Given the description of an element on the screen output the (x, y) to click on. 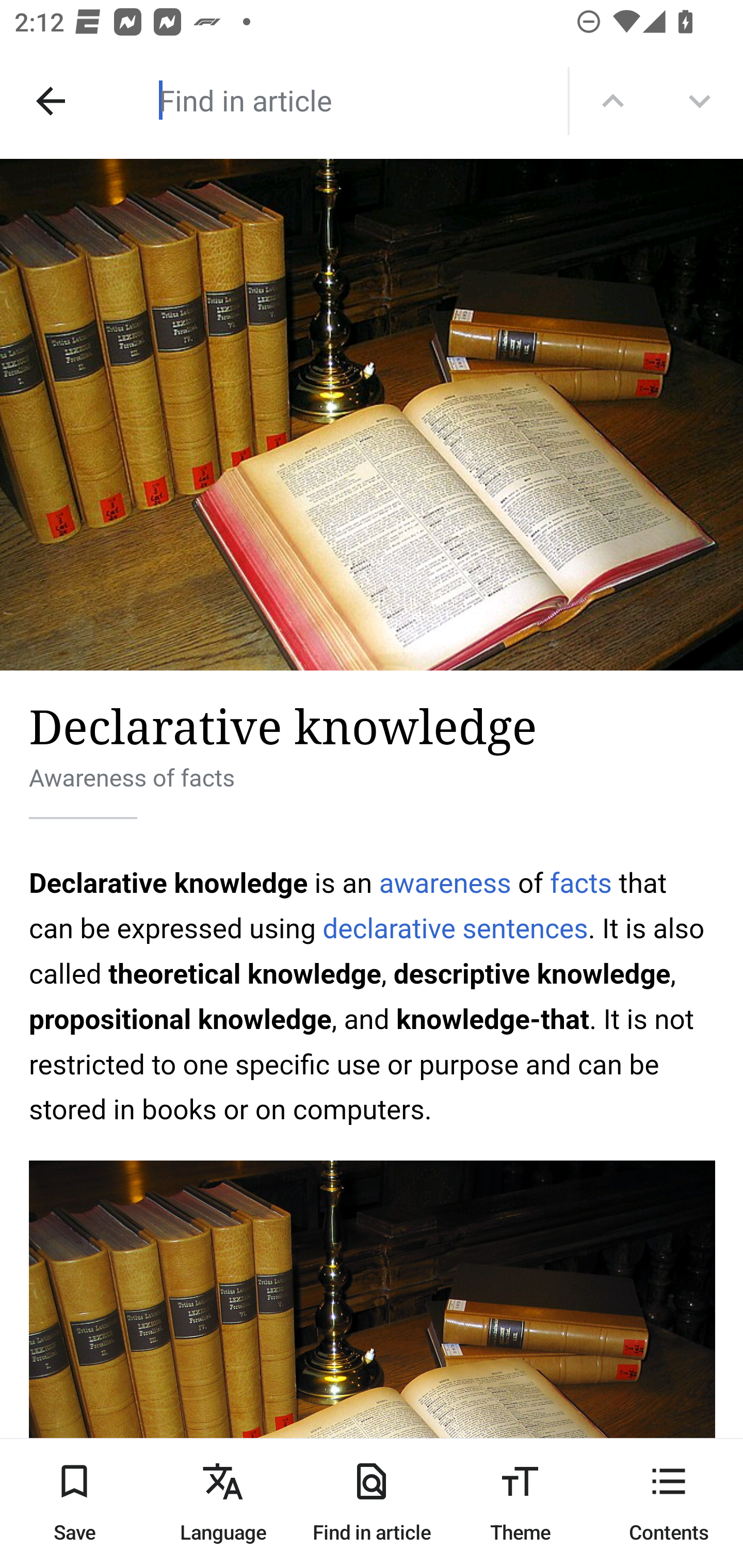
Done (50, 101)
Find previous (612, 101)
More options (699, 101)
Find in article (334, 100)
Image: Declarative knowledge (371, 414)
awareness (444, 883)
facts (581, 883)
declarative sentences (454, 928)
Save (74, 1502)
Language (222, 1502)
Find in article (371, 1502)
Theme (519, 1502)
Contents (668, 1502)
